Given the description of an element on the screen output the (x, y) to click on. 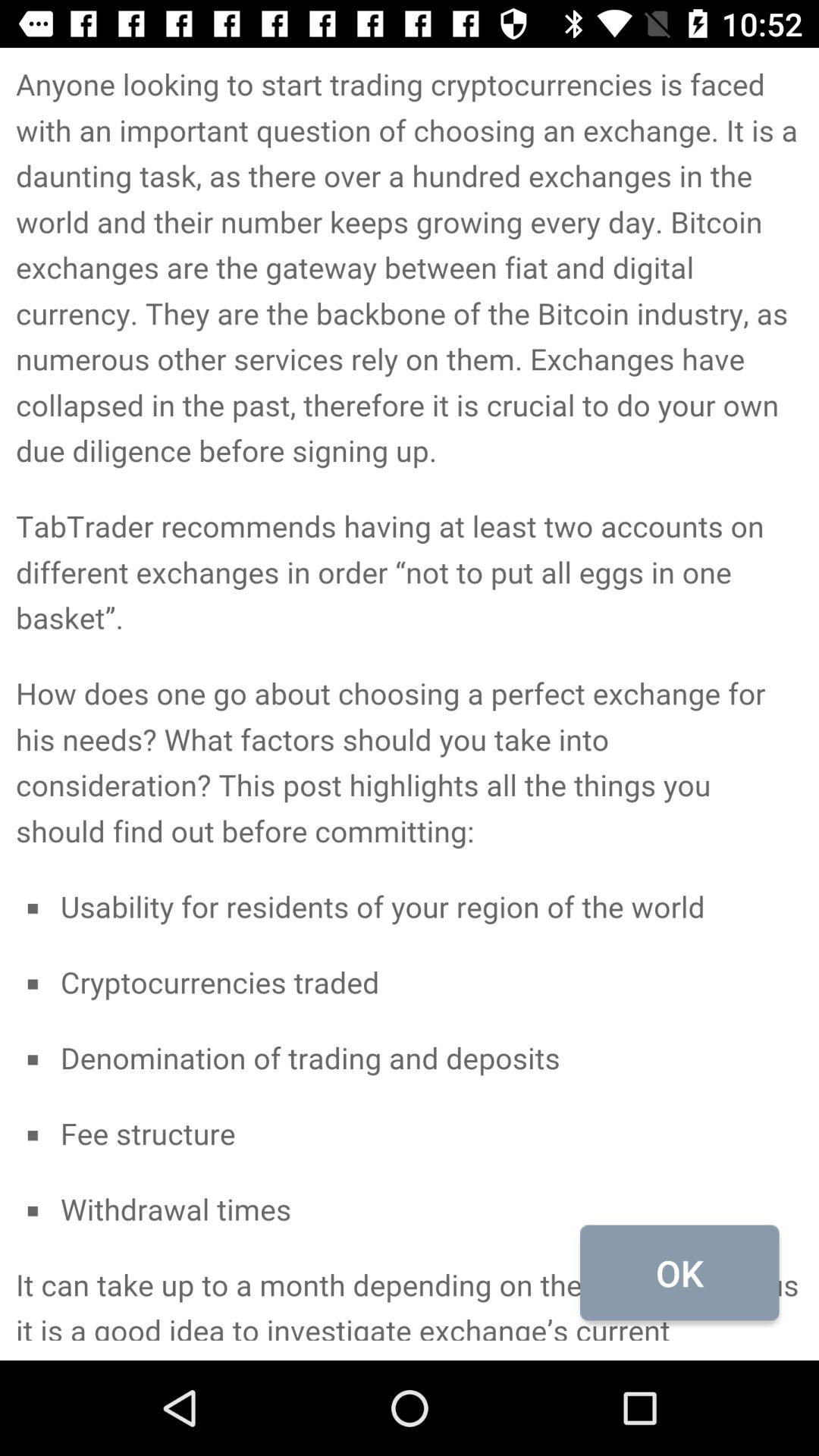
launch ok icon (679, 1272)
